Given the description of an element on the screen output the (x, y) to click on. 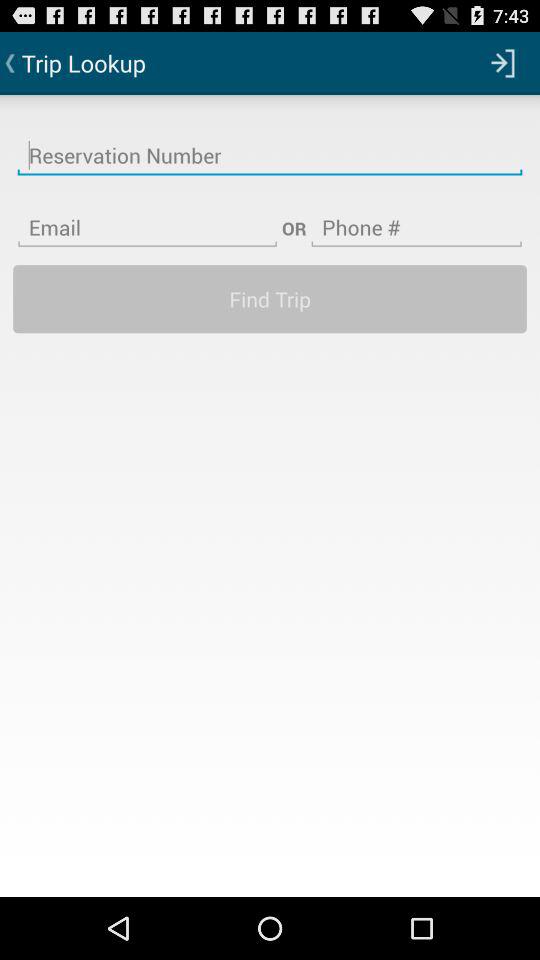
open the item to the right of the trip lookup icon (503, 62)
